Given the description of an element on the screen output the (x, y) to click on. 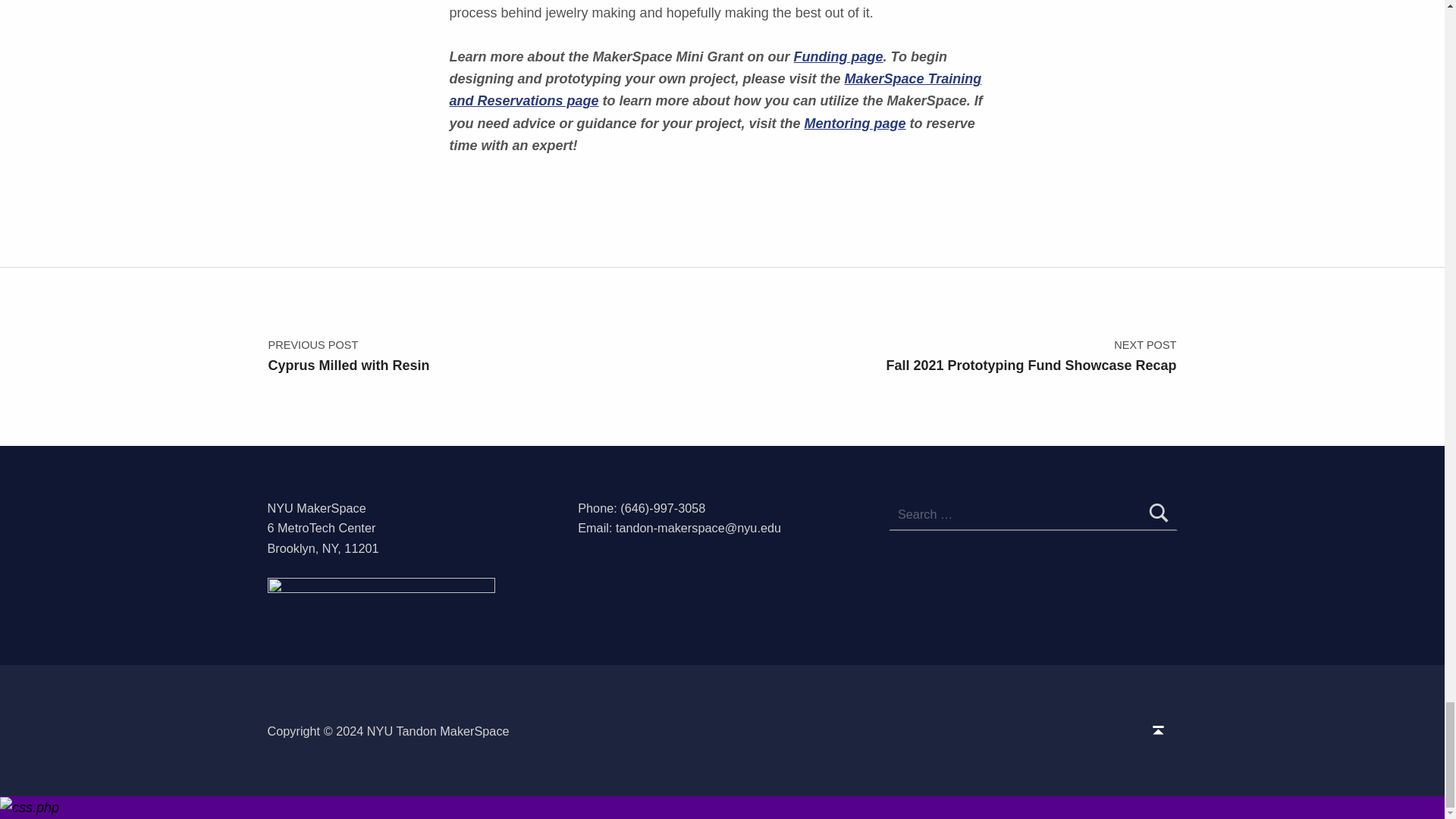
Search (1158, 513)
Back to top (1158, 730)
Search (1158, 513)
